Given the description of an element on the screen output the (x, y) to click on. 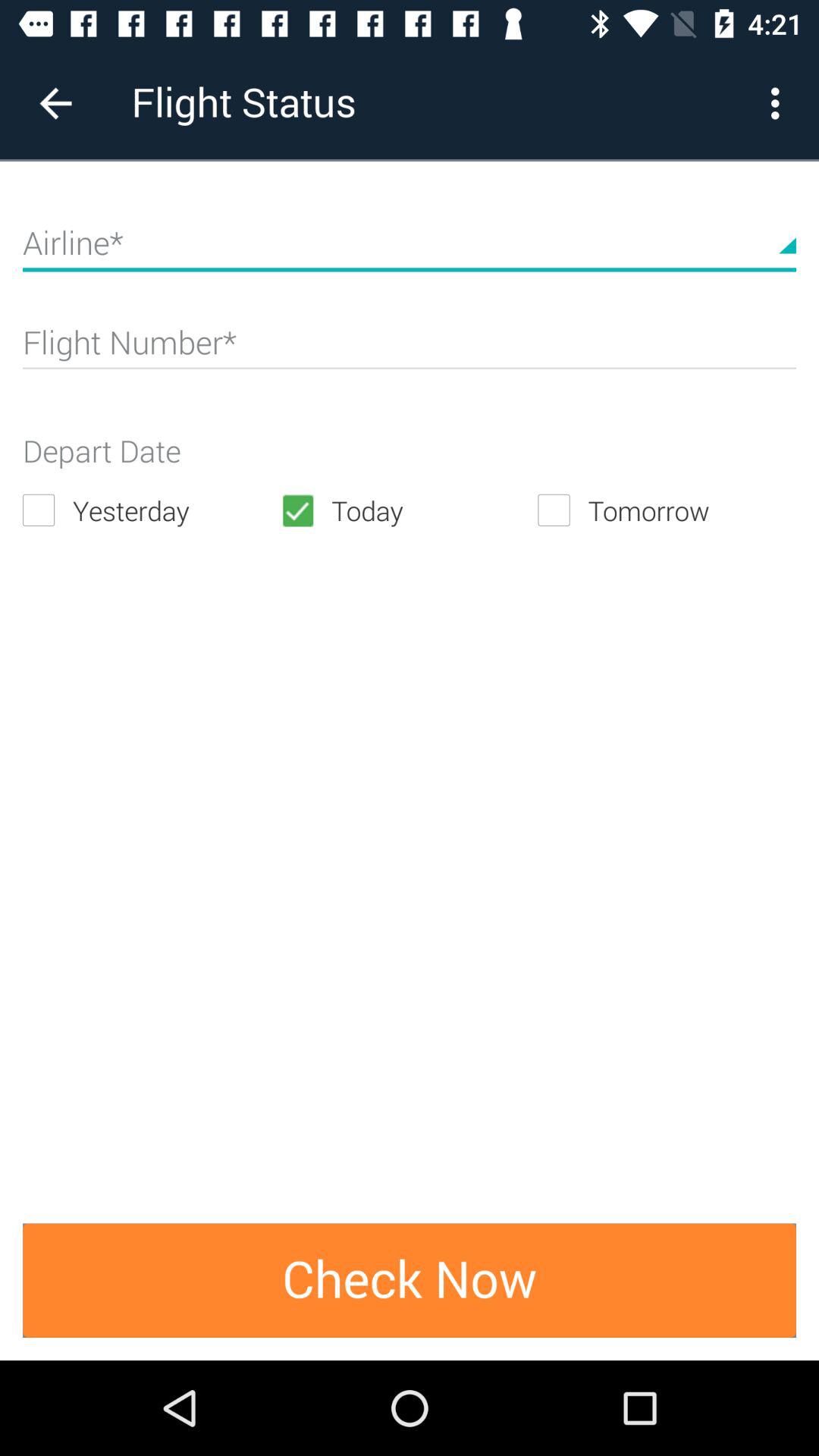
press icon next to the today icon (151, 510)
